Given the description of an element on the screen output the (x, y) to click on. 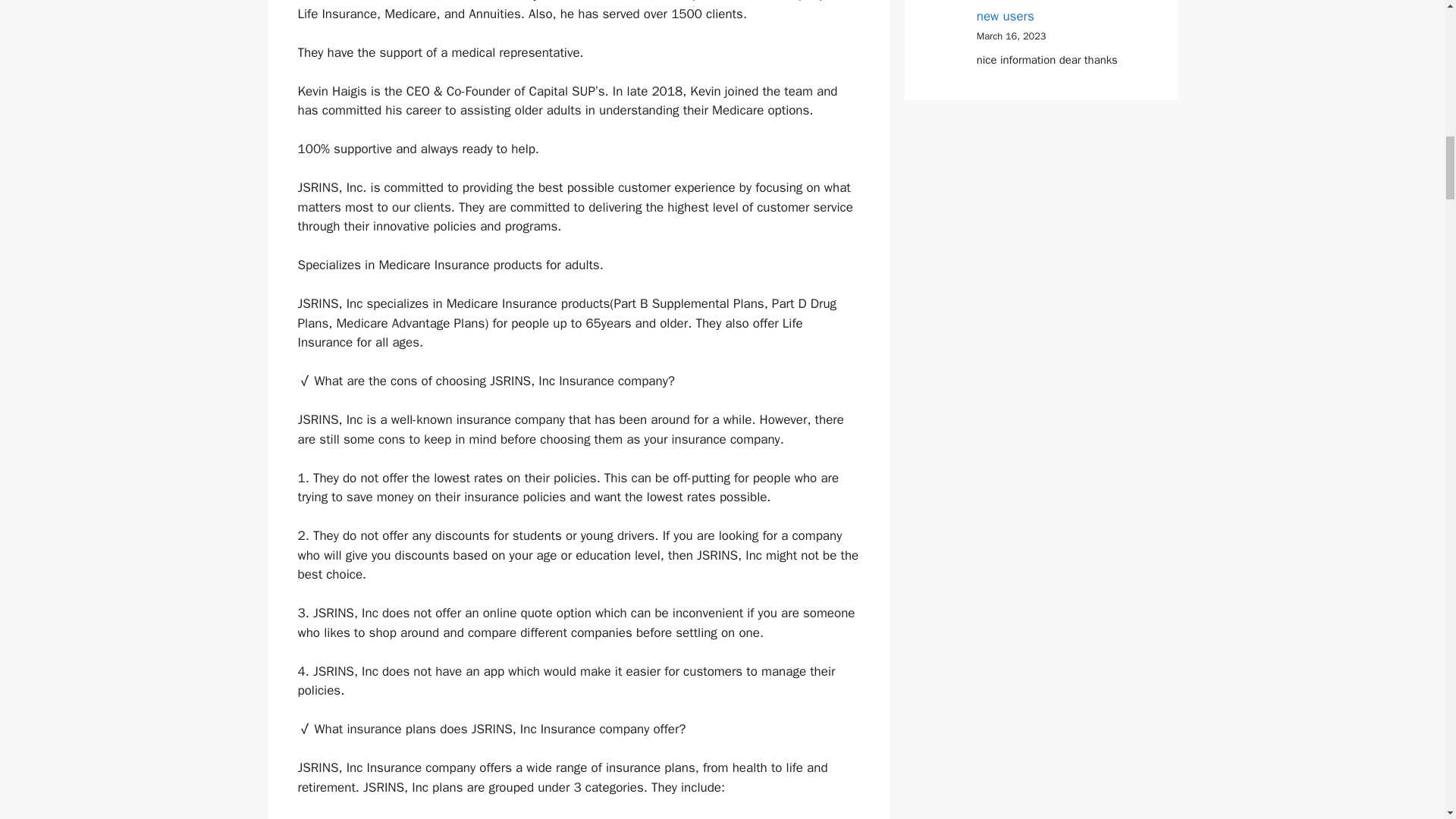
How to Buy Crypto on KuCoin Step-By-Step guide for new users (1061, 12)
